Given the description of an element on the screen output the (x, y) to click on. 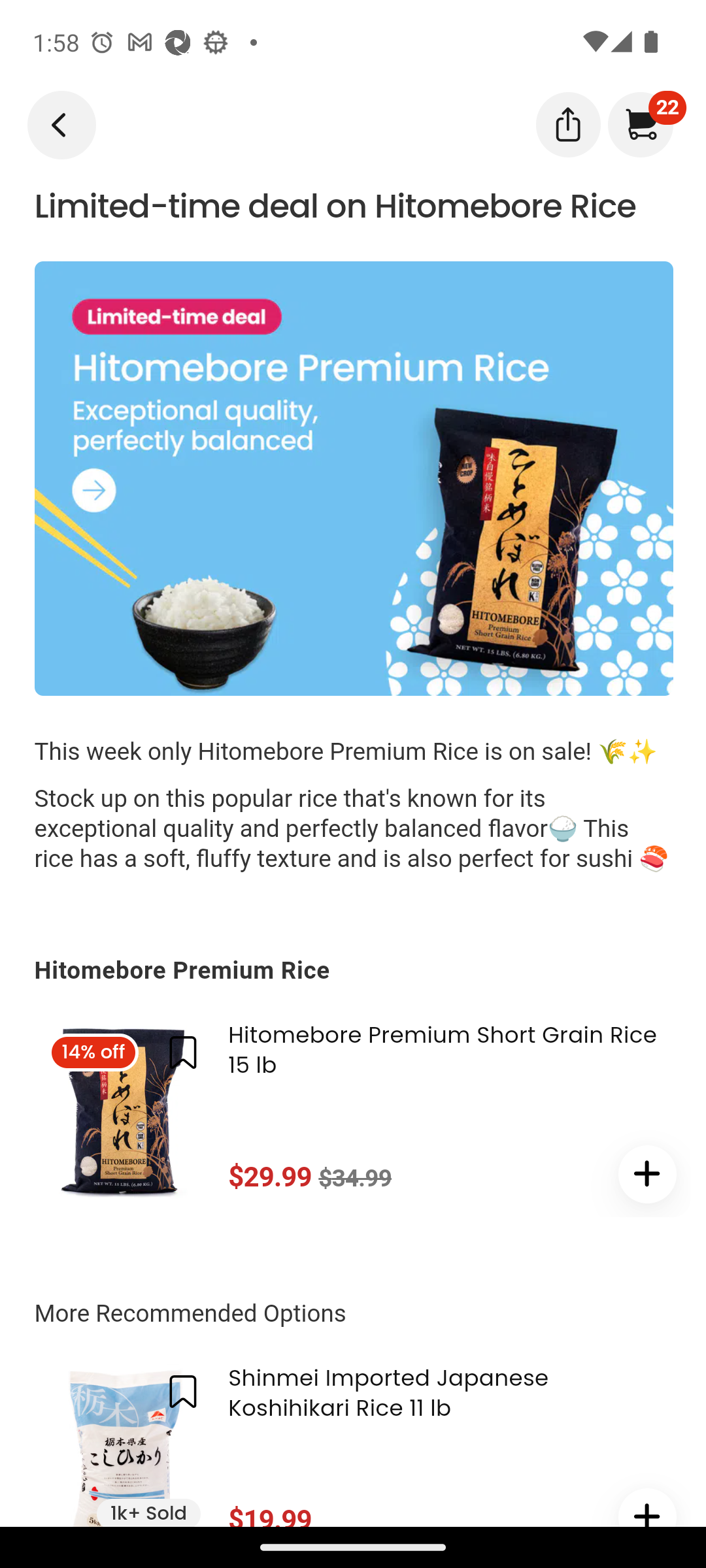
Weee! - Groceries Delivered (57, 123)
22 My cart (639, 124)
 (567, 123)
 (182, 1052)
 (647, 1173)
 (182, 1391)
 (647, 1507)
